Given the description of an element on the screen output the (x, y) to click on. 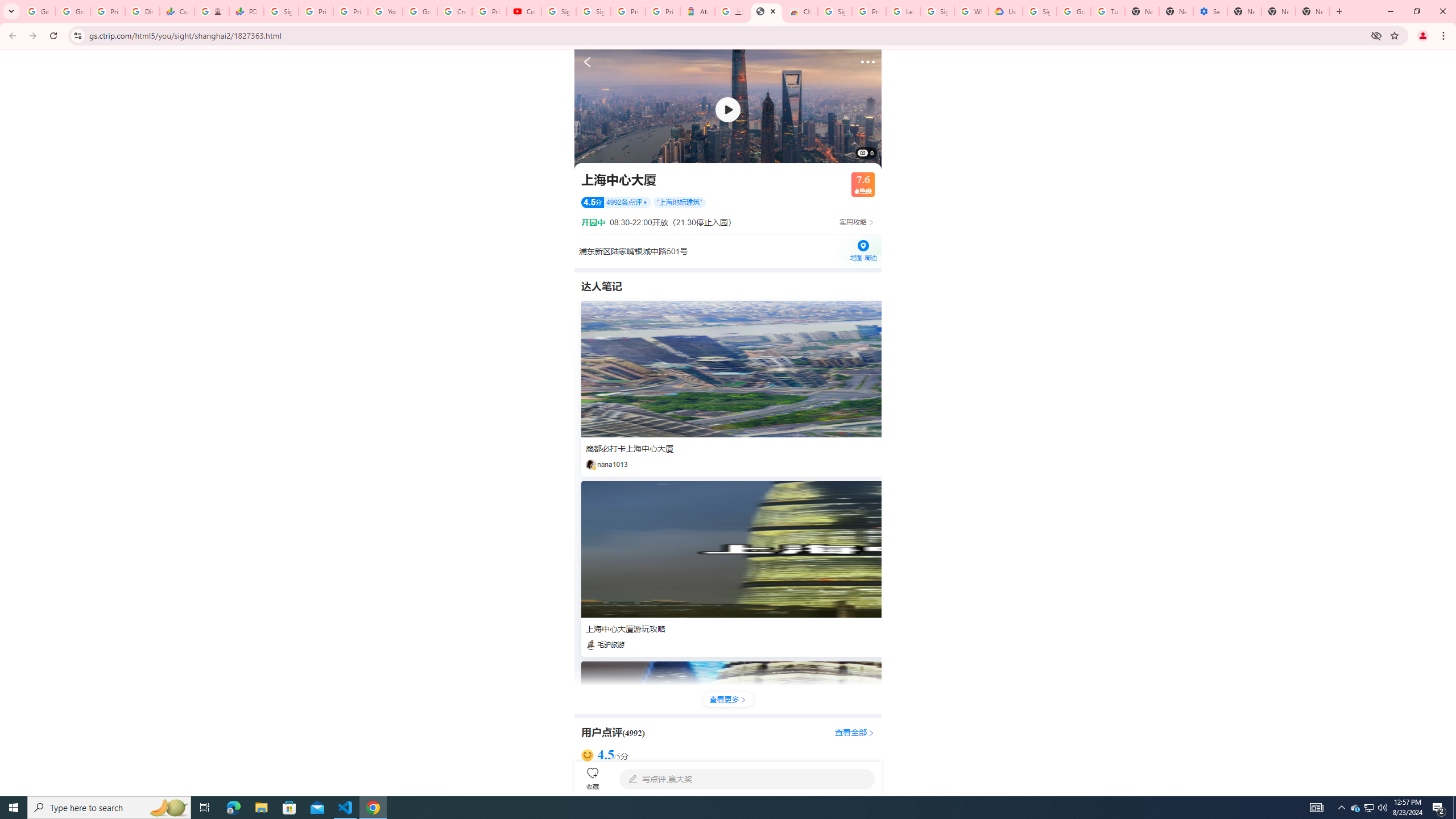
Close (772, 11)
Bookmark this tab (1393, 35)
Sign in - Google Accounts (1039, 11)
Who are Google's partners? - Privacy and conditions - Google (970, 11)
Back (10, 35)
New Tab (1338, 11)
Sign in - Google Accounts (557, 11)
Sign in - Google Accounts (834, 11)
Search tabs (10, 11)
Reload (52, 35)
To get missing image descriptions, open the context menu. (727, 109)
